Given the description of an element on the screen output the (x, y) to click on. 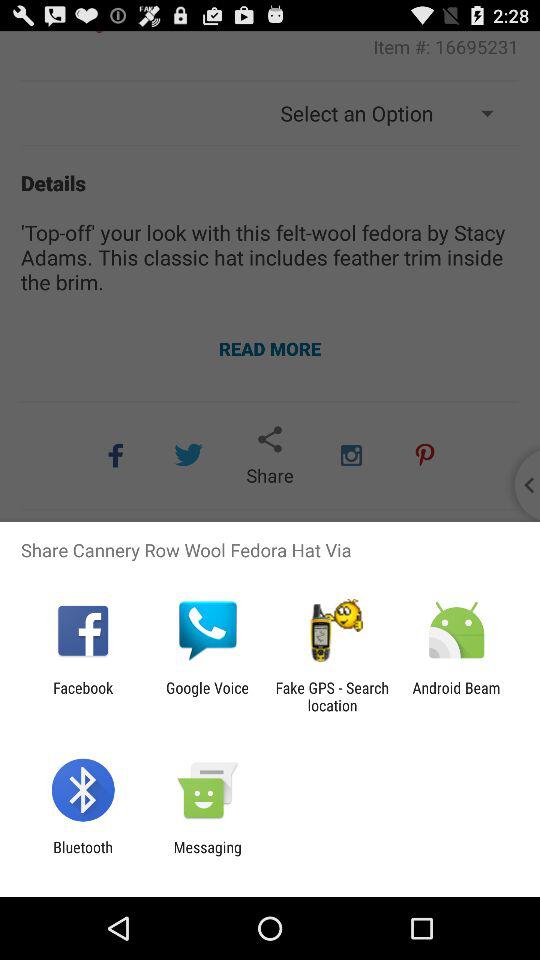
flip until bluetooth icon (82, 856)
